Given the description of an element on the screen output the (x, y) to click on. 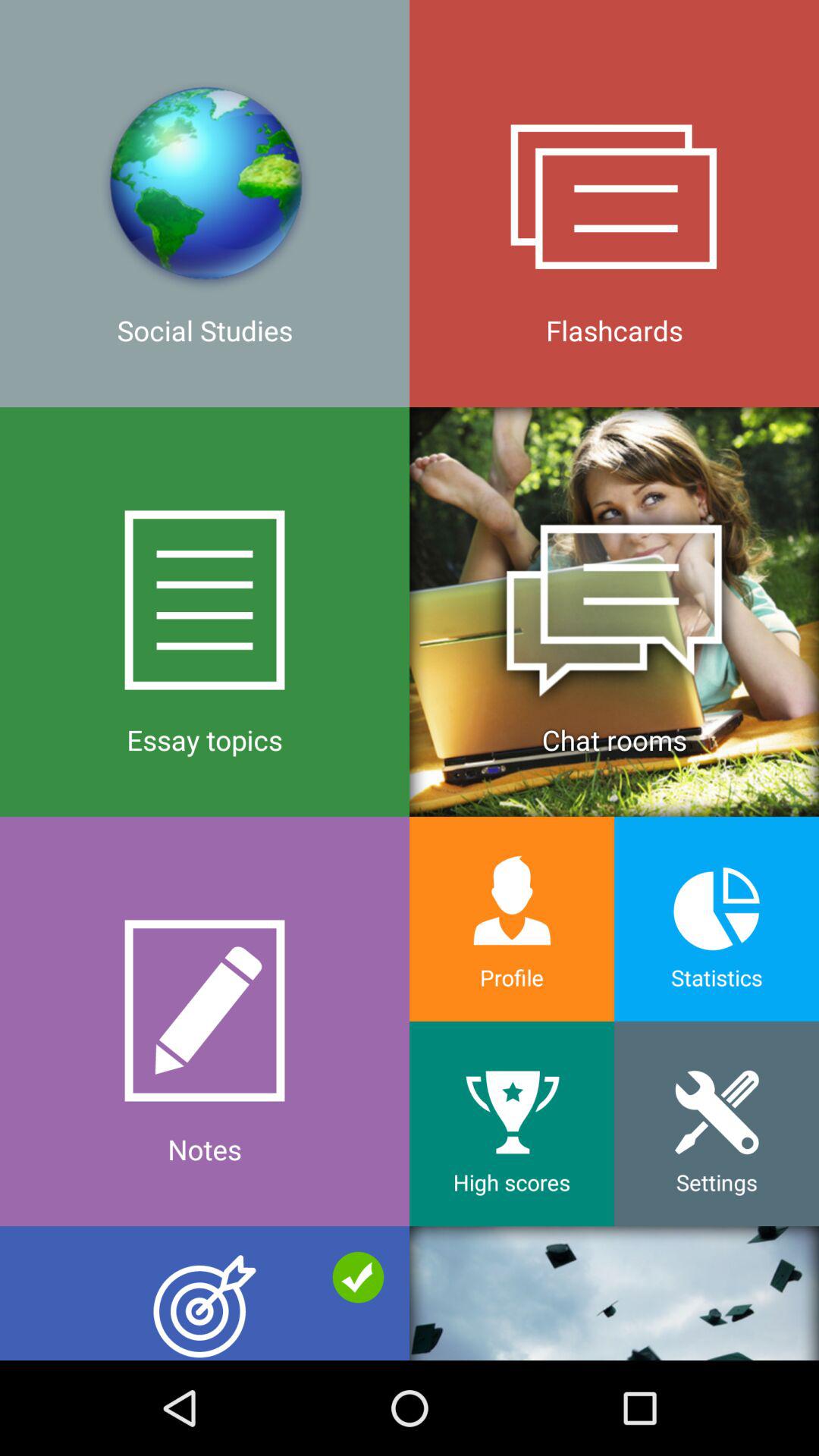
flip until the essay topics app (204, 611)
